Given the description of an element on the screen output the (x, y) to click on. 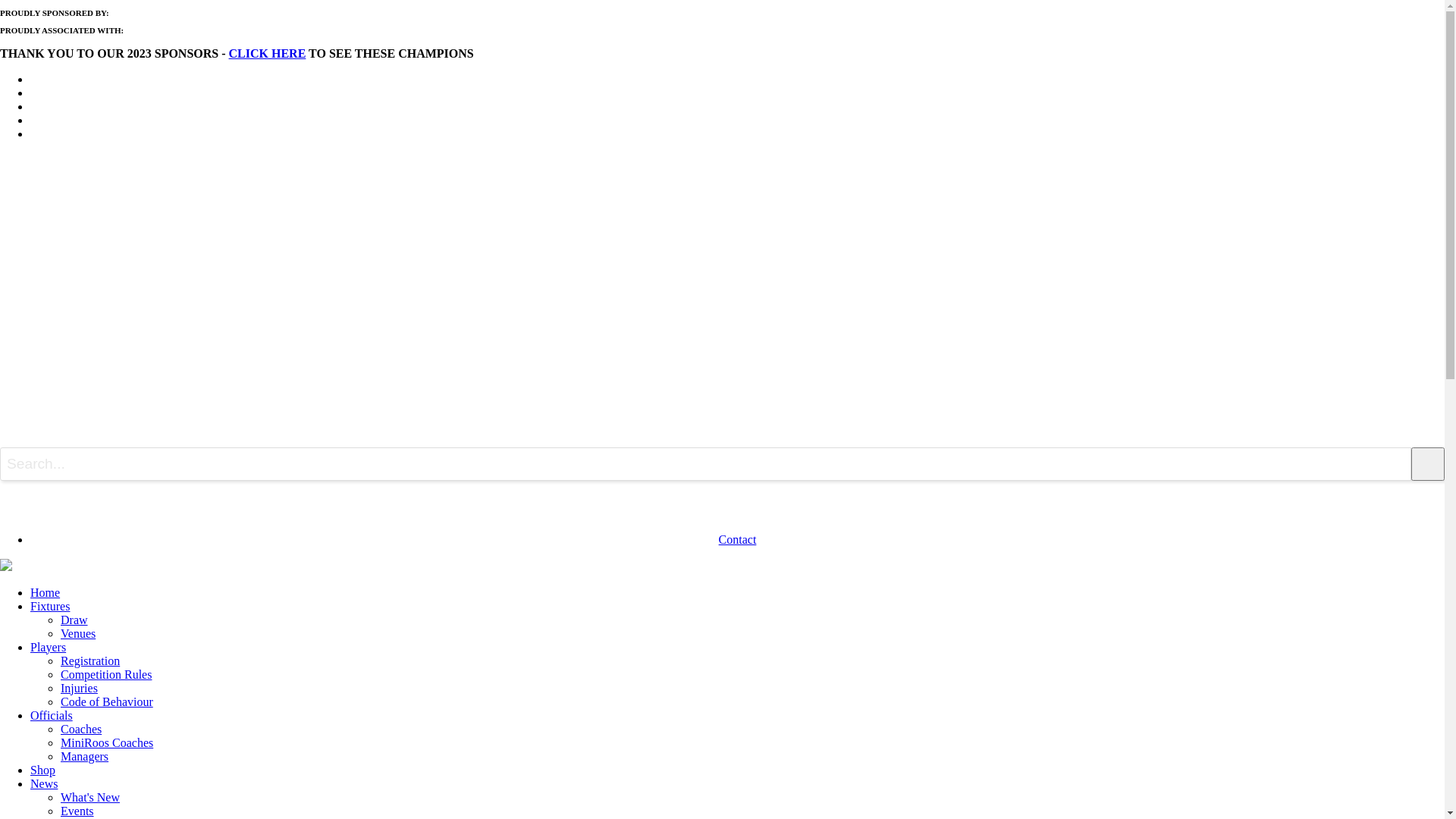
Players Element type: text (47, 646)
Contact Element type: text (737, 539)
Coaches Element type: text (80, 728)
Managers Element type: text (84, 755)
Home Element type: text (44, 592)
Competition Rules Element type: text (105, 674)
Events Element type: text (77, 810)
Fixtures Element type: text (49, 605)
CLICK HERE Element type: text (267, 53)
Shop Element type: text (42, 769)
Venues Element type: text (77, 633)
Officials Element type: text (51, 715)
Draw Element type: text (73, 619)
What's New Element type: text (89, 796)
MiniRoos Coaches Element type: text (106, 742)
Injuries Element type: text (78, 687)
News Element type: text (43, 783)
Code of Behaviour Element type: text (106, 701)
Registration Element type: text (89, 660)
